Given the description of an element on the screen output the (x, y) to click on. 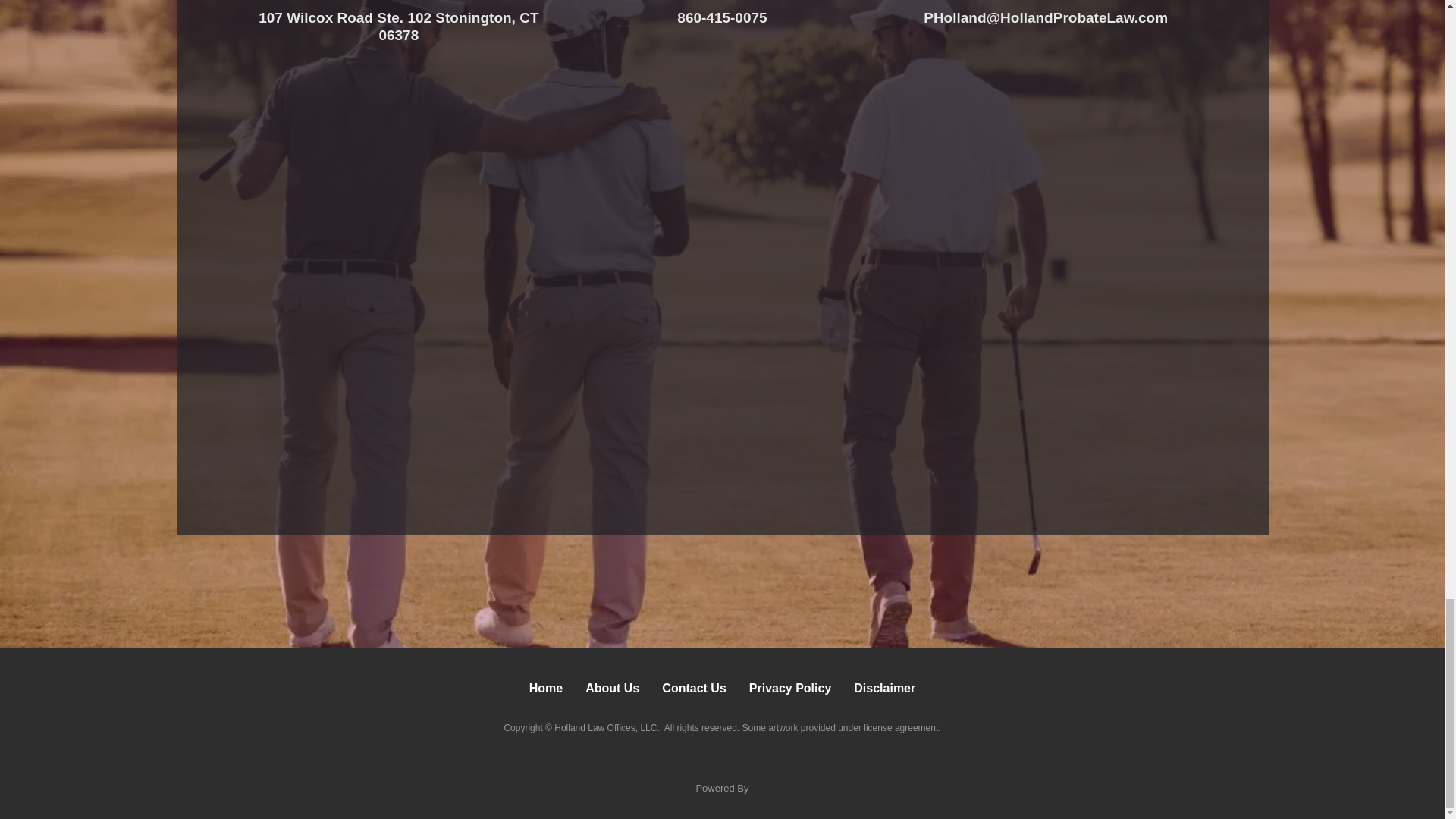
Visit Integritymarketingsolutions.com (721, 766)
